Given the description of an element on the screen output the (x, y) to click on. 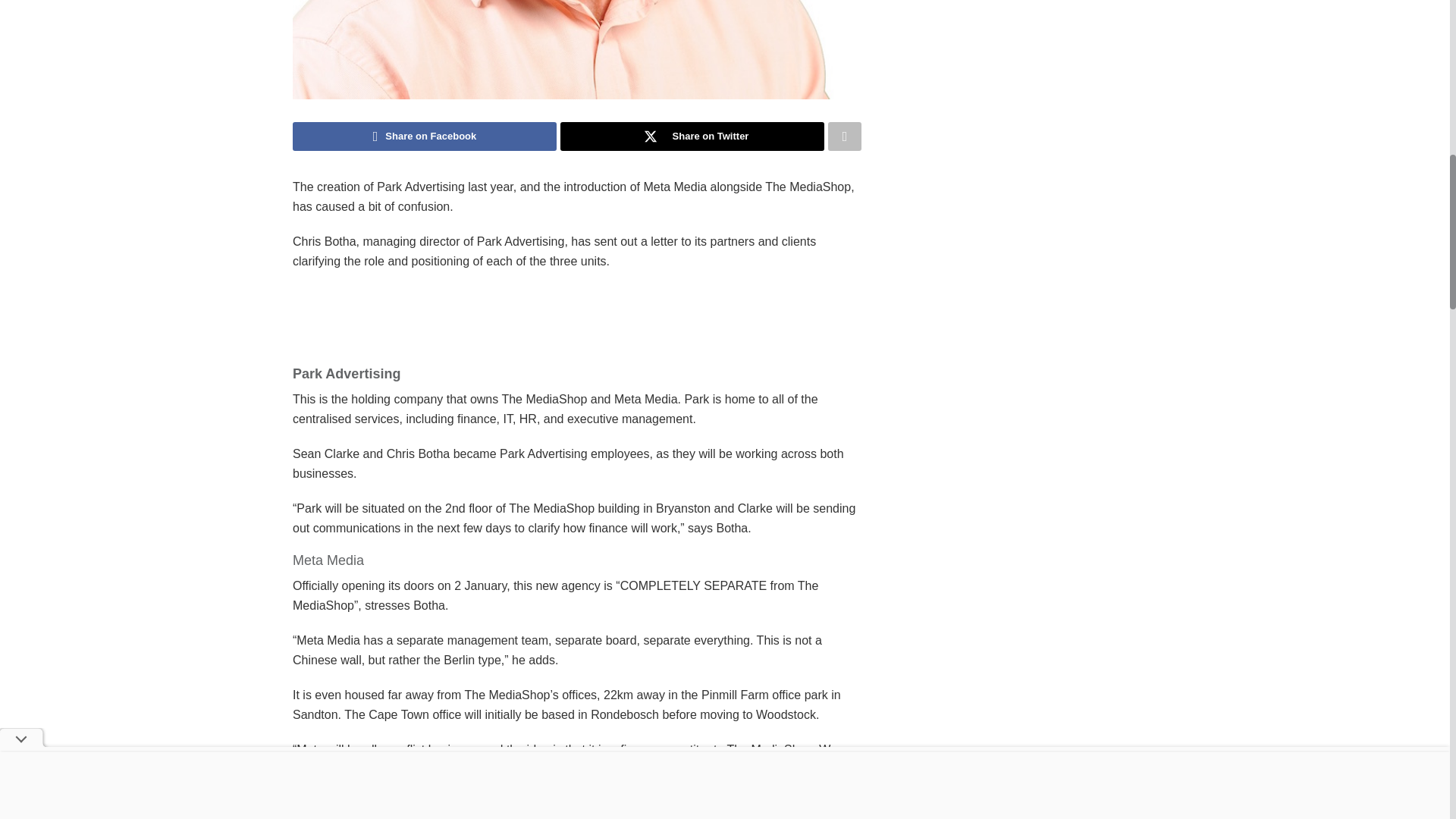
3rd party ad content (997, 746)
3rd party ad content (577, 320)
3rd party ad content (997, 84)
